Given the description of an element on the screen output the (x, y) to click on. 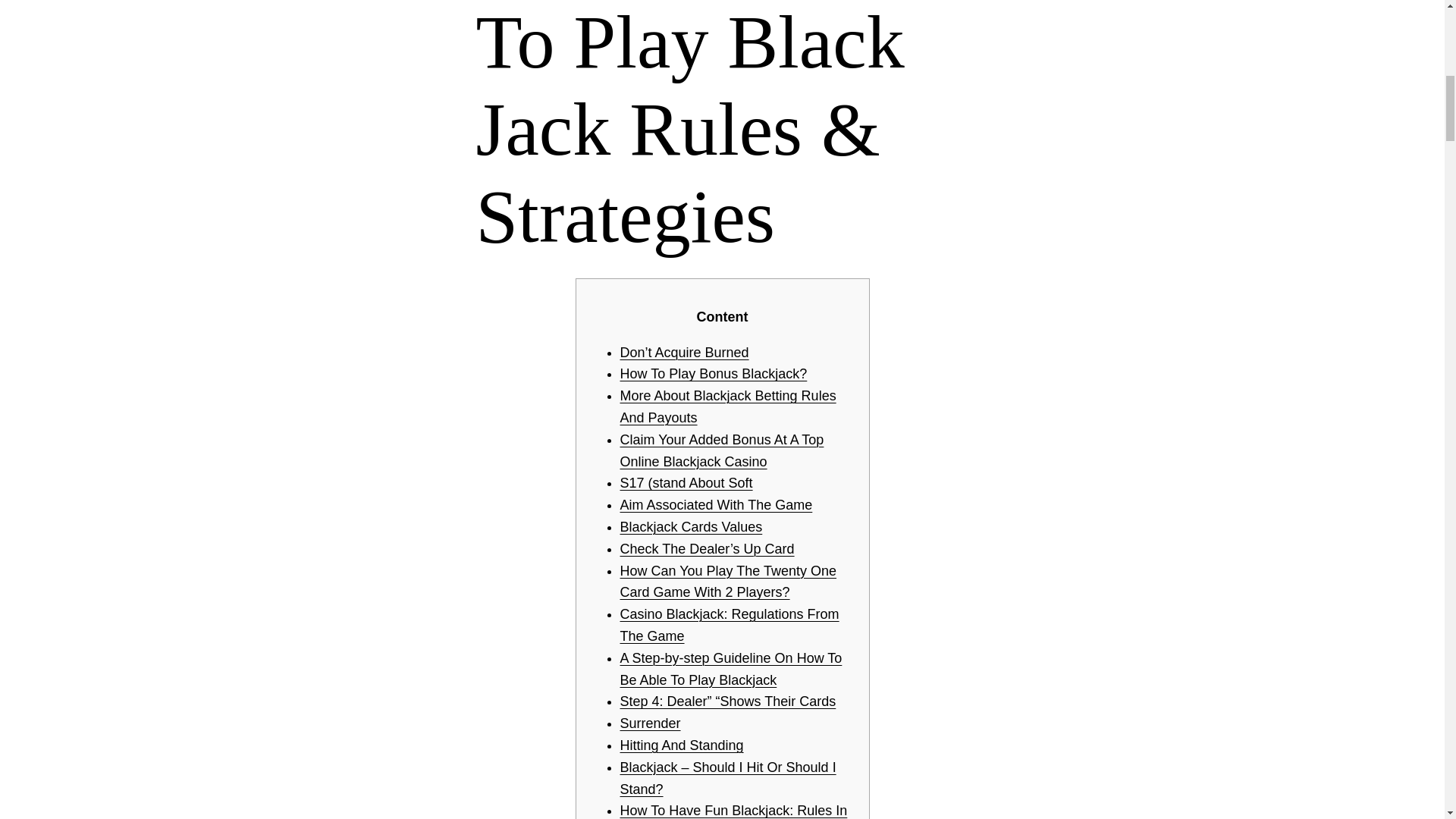
More About Blackjack Betting Rules And Payouts (727, 406)
How To Play Bonus Blackjack? (714, 373)
How Can You Play The Twenty One Card Game With 2 Players? (728, 581)
Surrender (650, 723)
Casino Blackjack: Regulations From The Game (730, 624)
Blackjack Cards Values (691, 526)
A Step-by-step Guideline On How To Be Able To Play Blackjack (731, 668)
Claim Your Added Bonus At A Top Online Blackjack Casino (722, 450)
Hitting And Standing (682, 744)
How To Have Fun Blackjack: Rules In Addition To Game Play (733, 811)
